Given the description of an element on the screen output the (x, y) to click on. 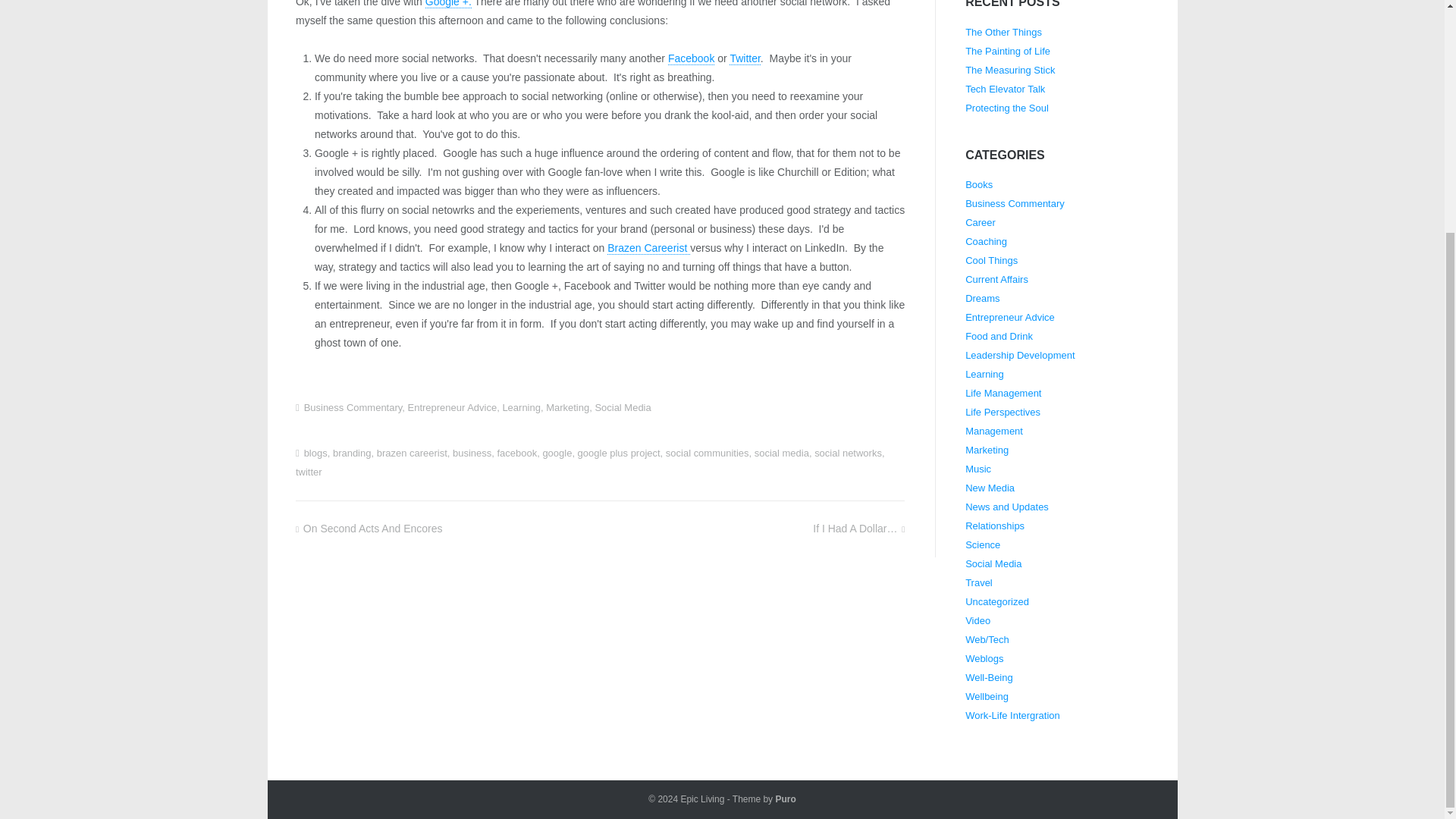
google (556, 452)
brazen careerist (411, 452)
Facebook (691, 58)
social communities (707, 452)
Business Commentary (353, 407)
facebook (516, 452)
Brazen Careerist (648, 247)
branding (352, 452)
blogs (315, 452)
social media (781, 452)
twitter (308, 471)
Learning (521, 407)
A Free WordPress Theme by Puro (784, 798)
social networks (847, 452)
Social Media (622, 407)
